Given the description of an element on the screen output the (x, y) to click on. 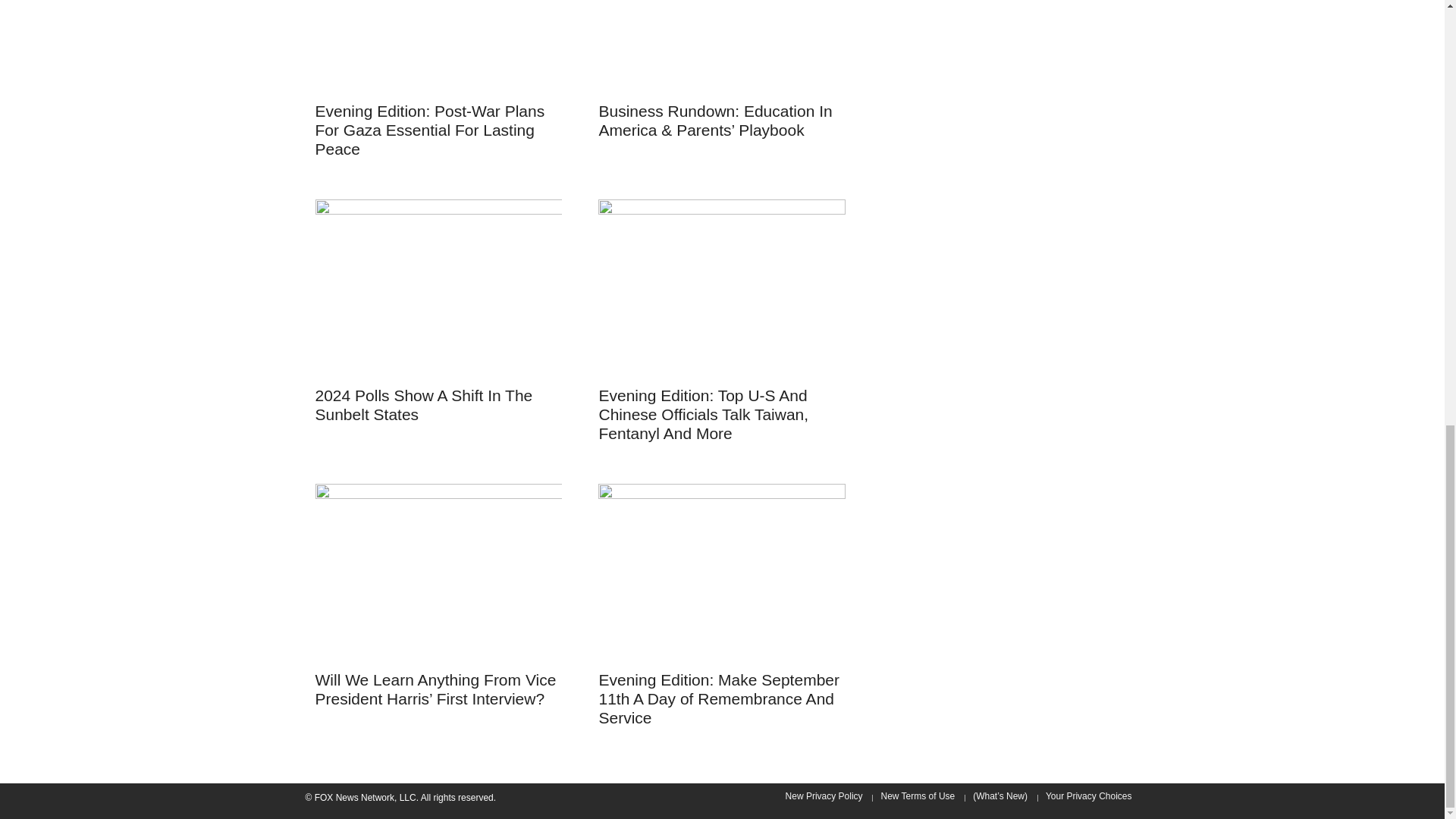
2024 Polls Show A Shift In The Sunbelt States (423, 404)
2024 Polls Show A Shift In The Sunbelt States (438, 288)
2024 Polls Show A Shift In The Sunbelt States (438, 287)
